Given the description of an element on the screen output the (x, y) to click on. 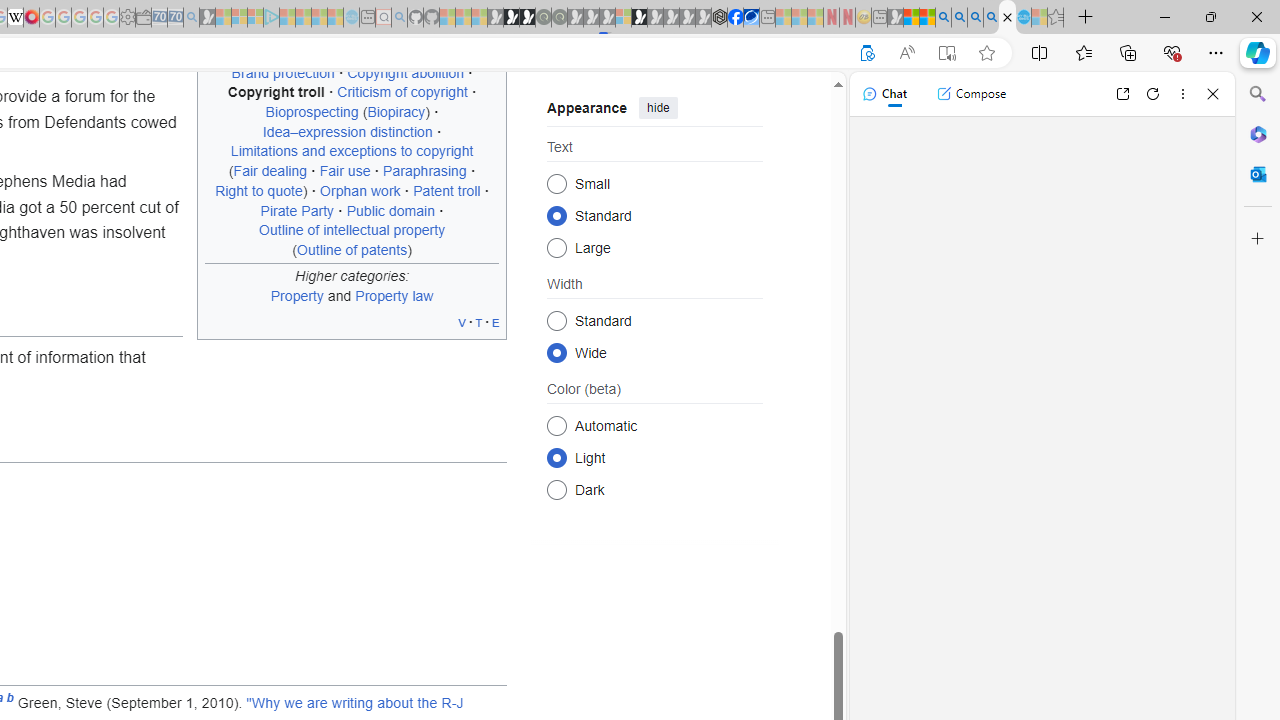
Outline of intellectual property (Outline of patents) (351, 239)
Wide (556, 352)
github - Search - Sleeping (399, 17)
Refresh (1153, 93)
(Outline of patents) (352, 249)
Property law (393, 295)
Chat (884, 93)
New Tab (1085, 17)
Standard (556, 320)
